Given the description of an element on the screen output the (x, y) to click on. 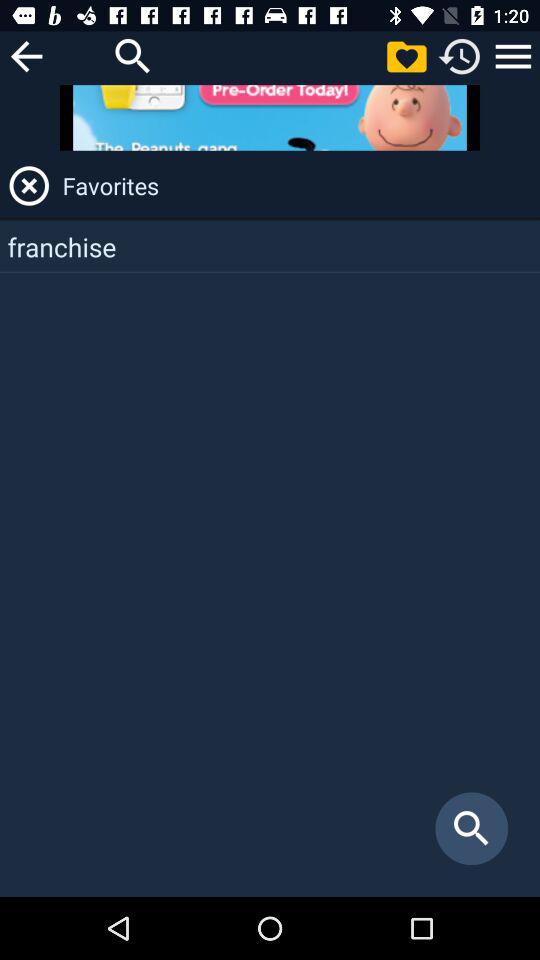
swipe until the franchise item (270, 246)
